Given the description of an element on the screen output the (x, y) to click on. 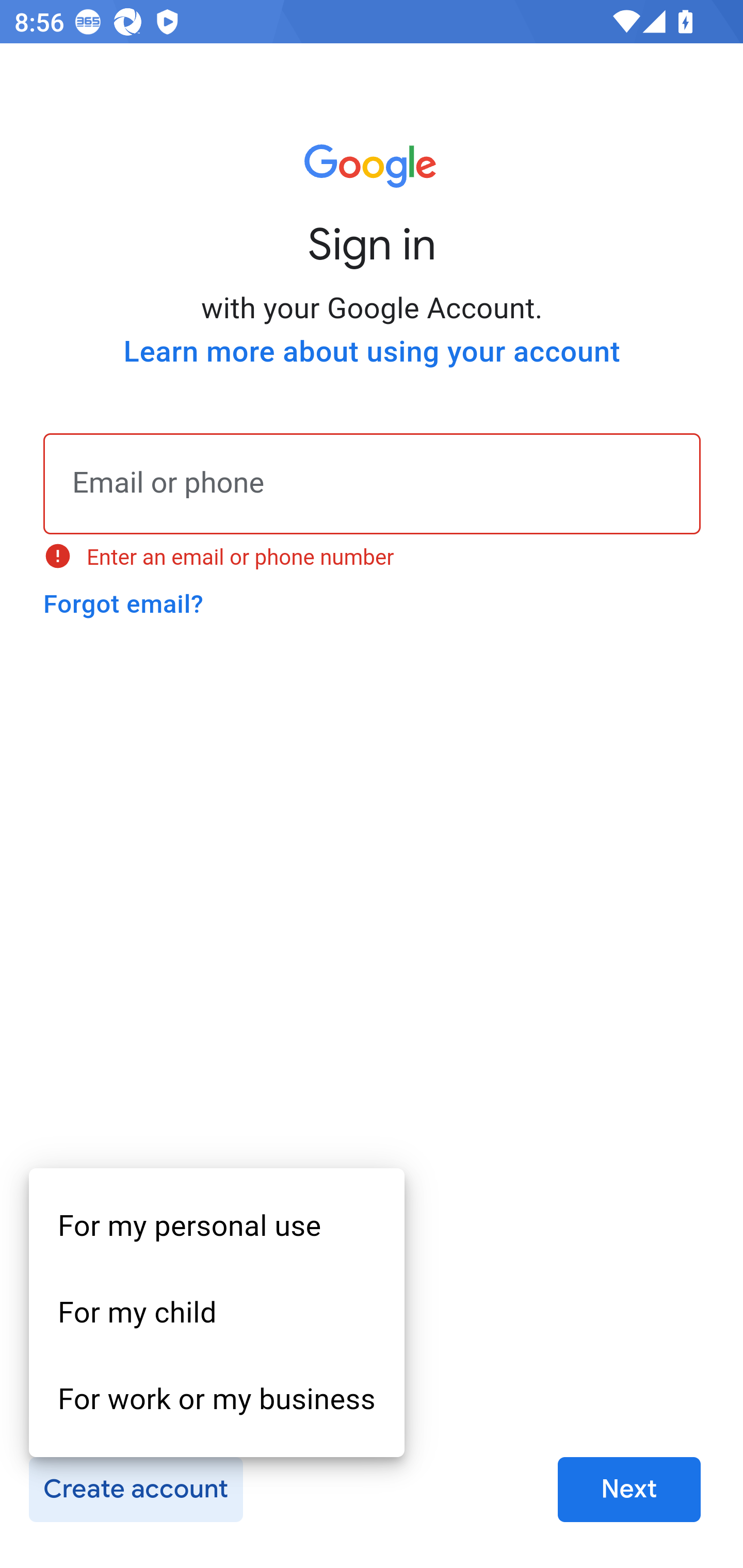
Learn more about using your account (371, 351)
Forgot email? (123, 604)
Create account (134, 1490)
Next (629, 1490)
